Given the description of an element on the screen output the (x, y) to click on. 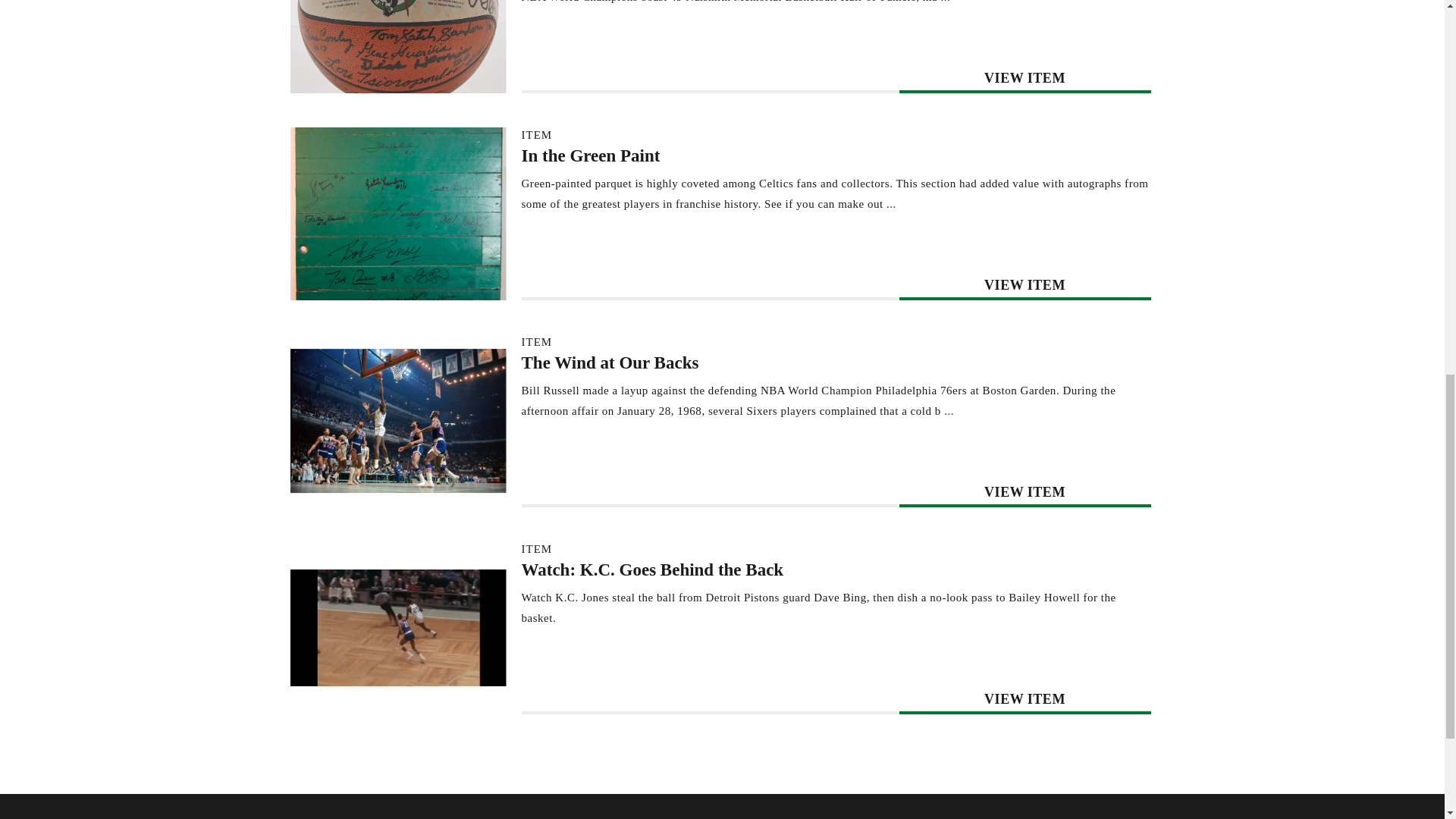
VIEW ITEM (1024, 698)
VIEW ITEM (1024, 284)
VIEW ITEM (1024, 491)
VIEW ITEM (1024, 77)
